Given the description of an element on the screen output the (x, y) to click on. 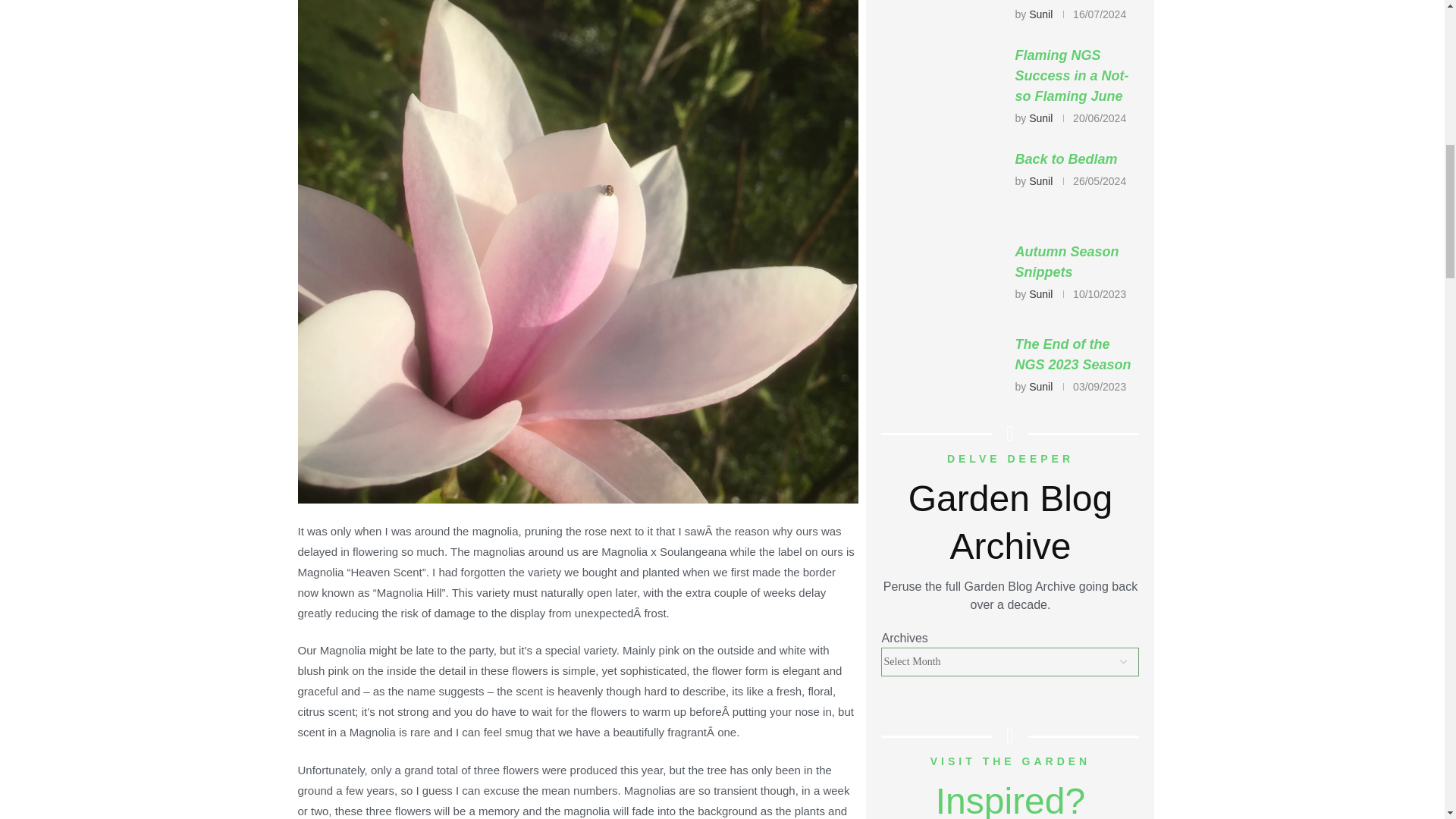
Autumn Season Snippets (941, 275)
Flaming NGS Success in a Not-so Flaming June (941, 78)
The End of the NGS 2023 Season (941, 367)
Back to Bedlam (941, 182)
